Given the description of an element on the screen output the (x, y) to click on. 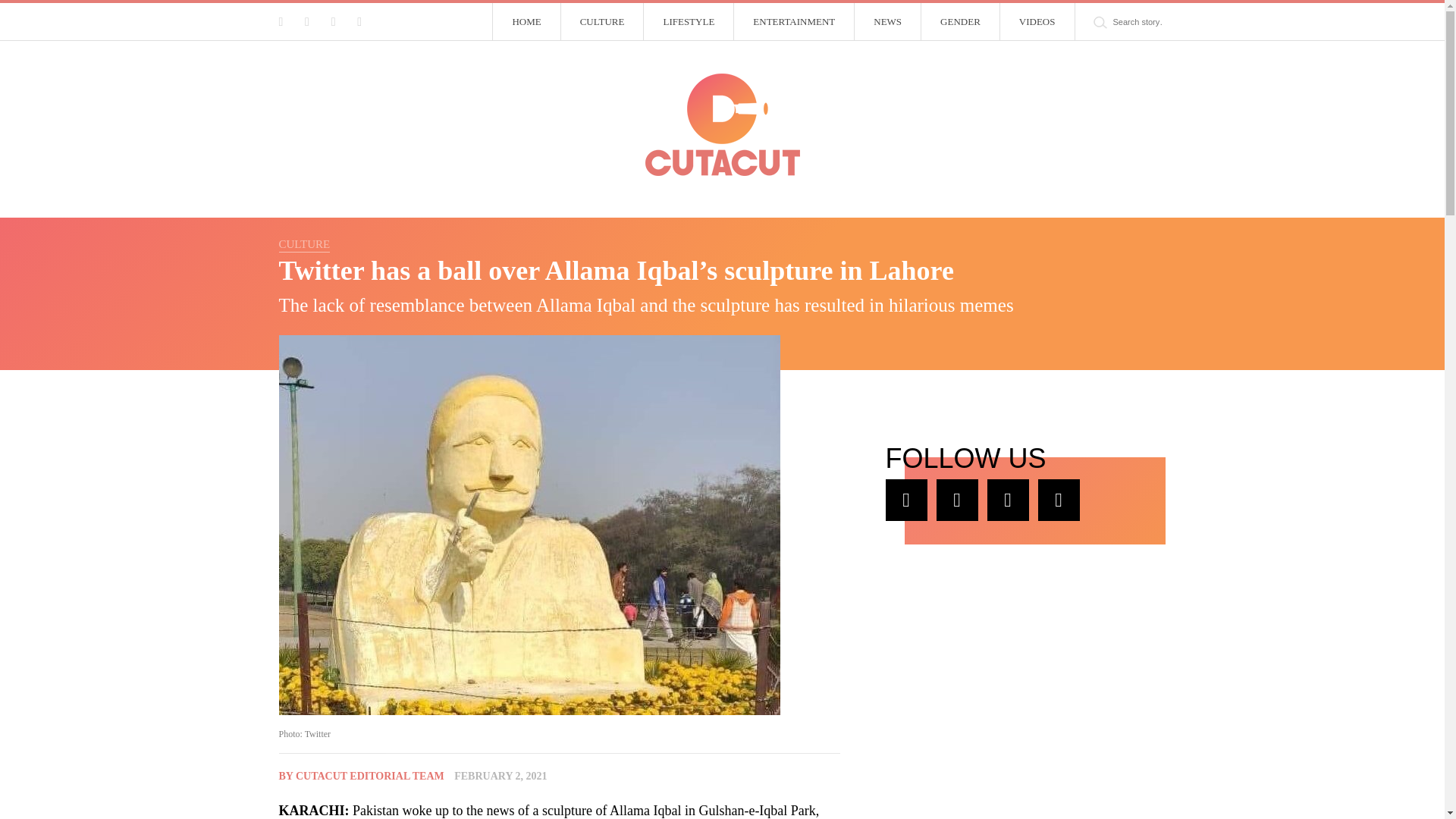
CULTURE (602, 21)
LIFESTYLE (688, 21)
VIDEOS (1037, 21)
GENDER (960, 21)
NEWS (887, 21)
HOME (526, 21)
CULTURE (304, 244)
BY CUTACUT EDITORIAL TEAM (361, 776)
ENTERTAINMENT (793, 21)
Advertisement (999, 687)
